Given the description of an element on the screen output the (x, y) to click on. 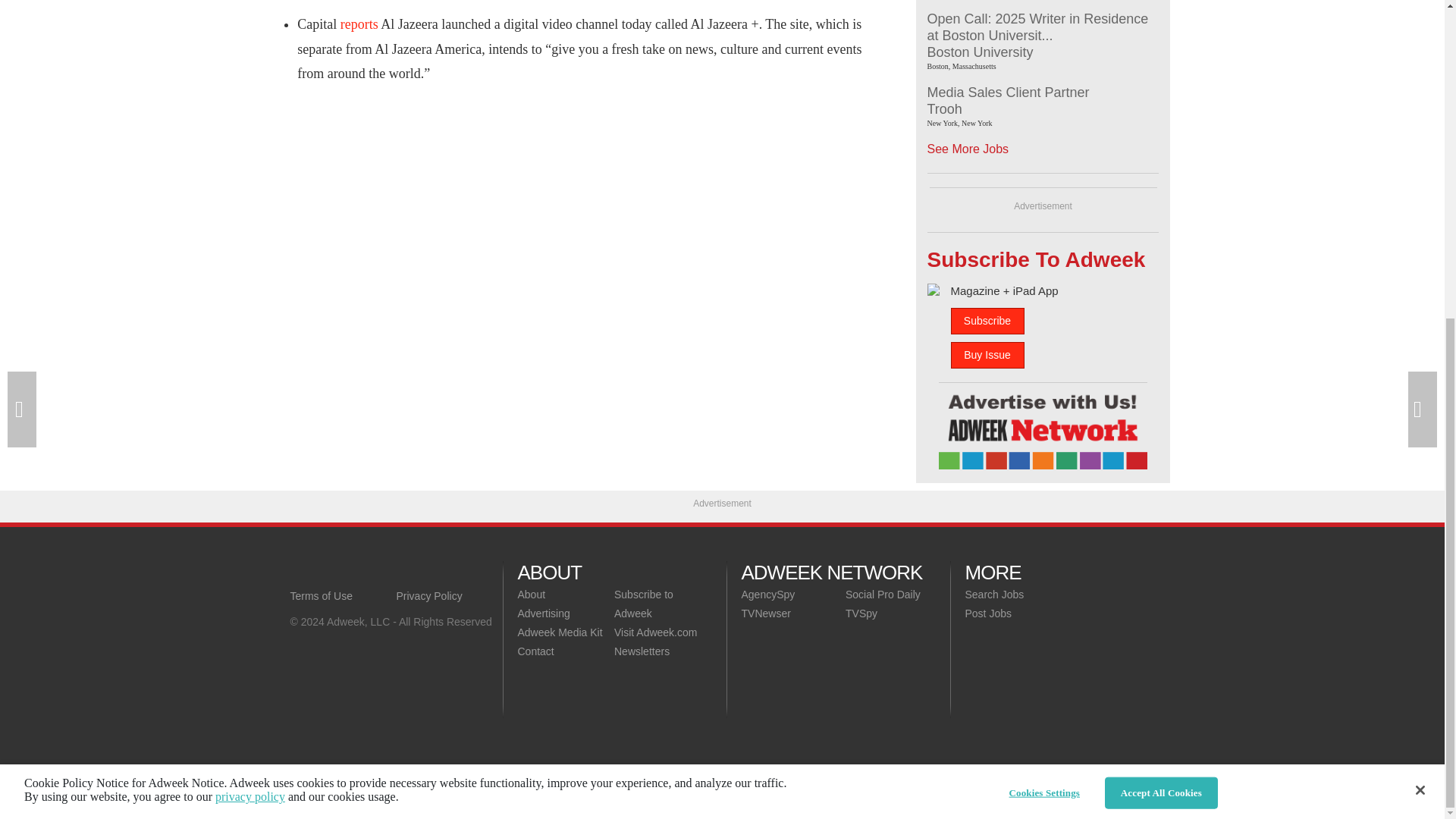
Covering national television news (395, 572)
